Given the description of an element on the screen output the (x, y) to click on. 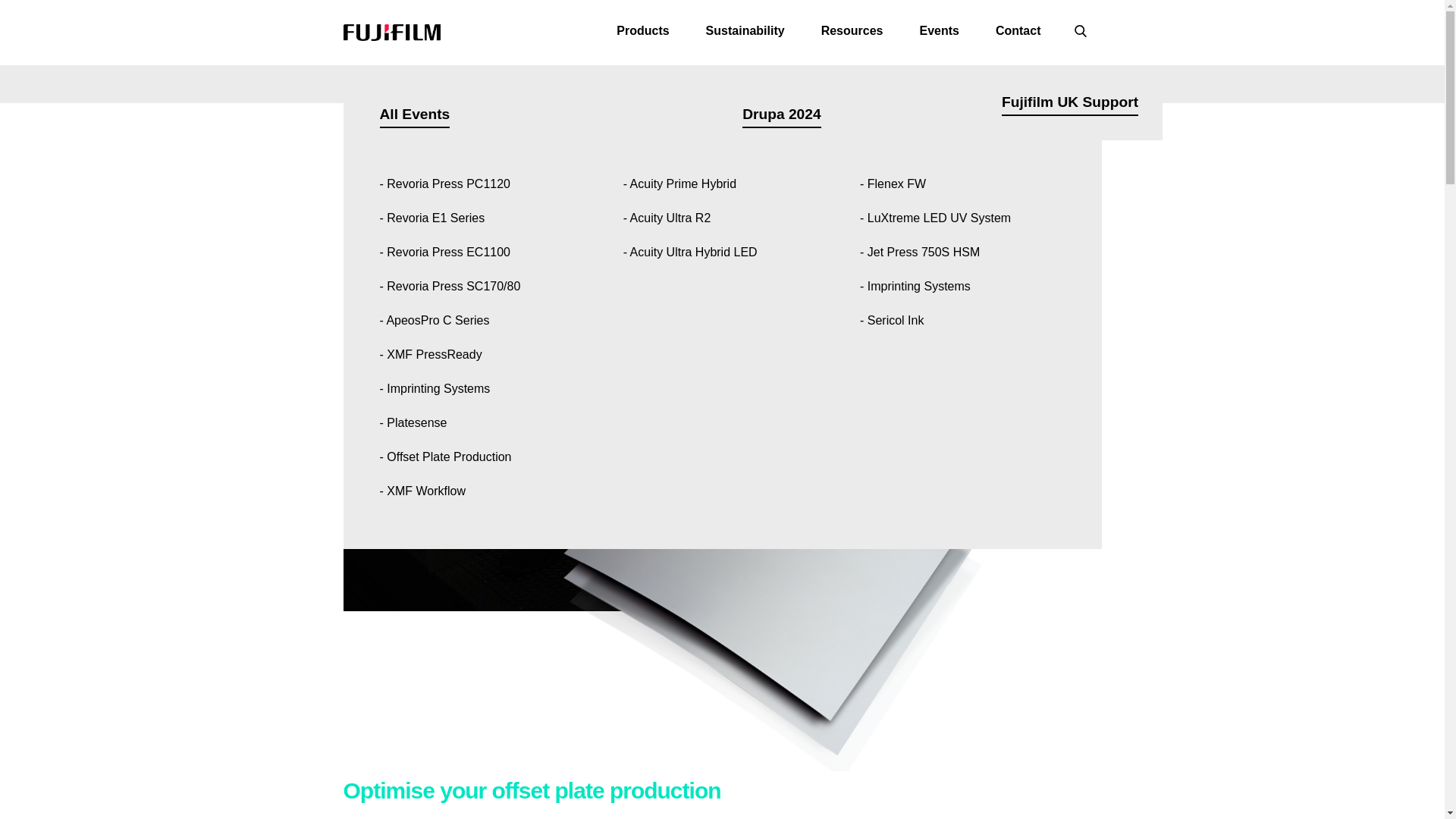
Events (938, 32)
- Offset Plate Production (475, 456)
Commercial (420, 114)
- Sericol Ink (962, 319)
- Acuity Ultra Hybrid LED (716, 251)
- Jet Press 750S HSM (962, 251)
- Imprinting Systems (962, 285)
Products (642, 32)
- Revoria Press PC1120 (475, 183)
- Flenex FW (962, 183)
- XMF Workflow (475, 490)
Fujifilm UK Support (1069, 102)
- Imprinting Systems (475, 388)
- Jet Press 750S HSM (475, 149)
All Events (413, 114)
